Given the description of an element on the screen output the (x, y) to click on. 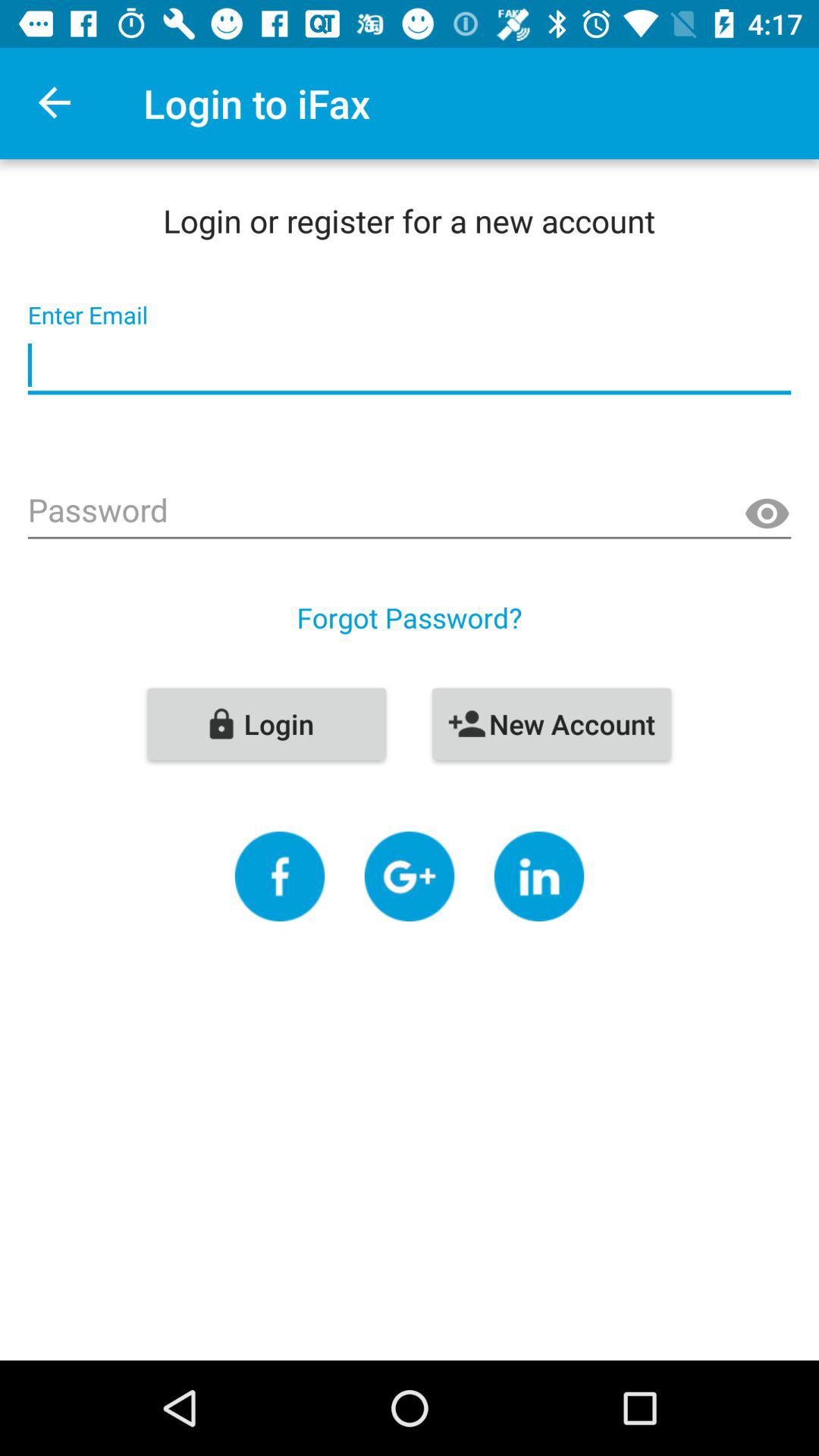
facebook (279, 876)
